Given the description of an element on the screen output the (x, y) to click on. 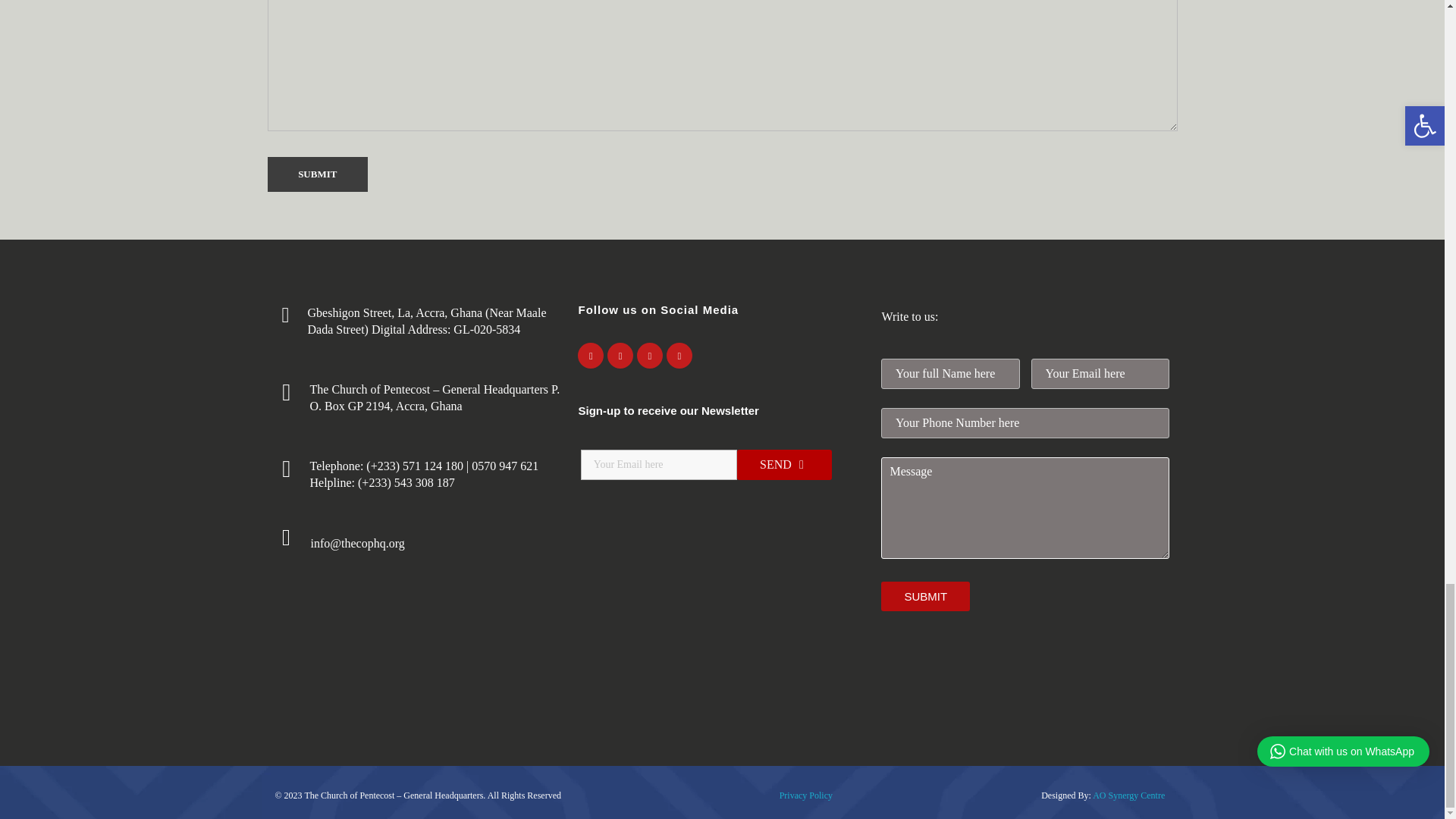
Submit (317, 174)
